Given the description of an element on the screen output the (x, y) to click on. 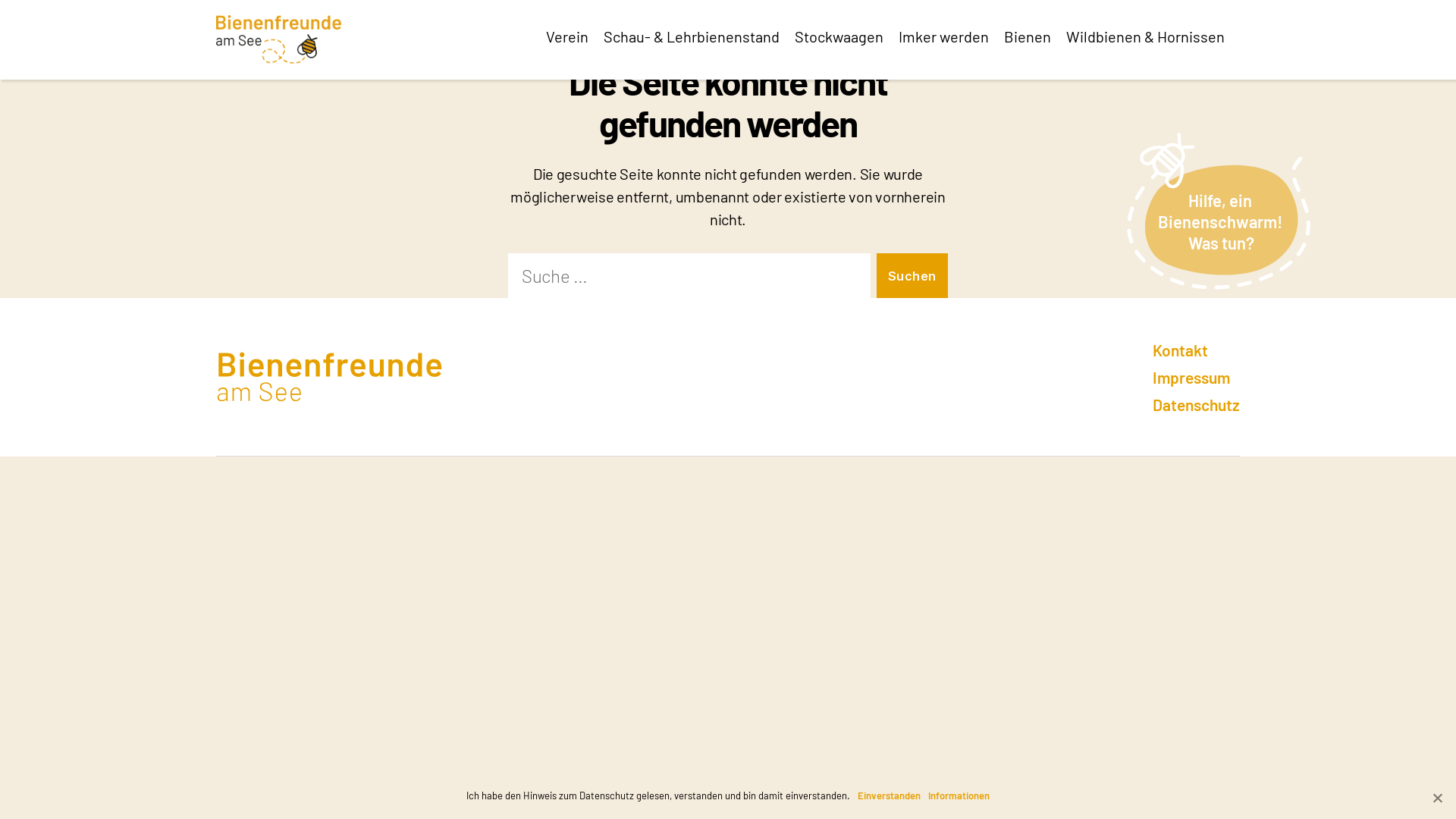
Wildbienen & Hornissen Element type: text (1152, 36)
Verein Element type: text (574, 36)
Suchen Element type: text (911, 275)
Kontakt Element type: text (1180, 349)
Imker werden Element type: text (951, 36)
Informationen Element type: text (958, 795)
Einverstanden Element type: text (888, 795)
Datenschutz Element type: text (1195, 404)
Schau- & Lehrbienenstand Element type: text (698, 36)
Stockwaagen Element type: text (846, 36)
Bienen Element type: text (1035, 36)
Hilfe, ein Bienenschwarm! Was tun? Element type: text (1218, 205)
Impressum Element type: text (1191, 376)
